Given the description of an element on the screen output the (x, y) to click on. 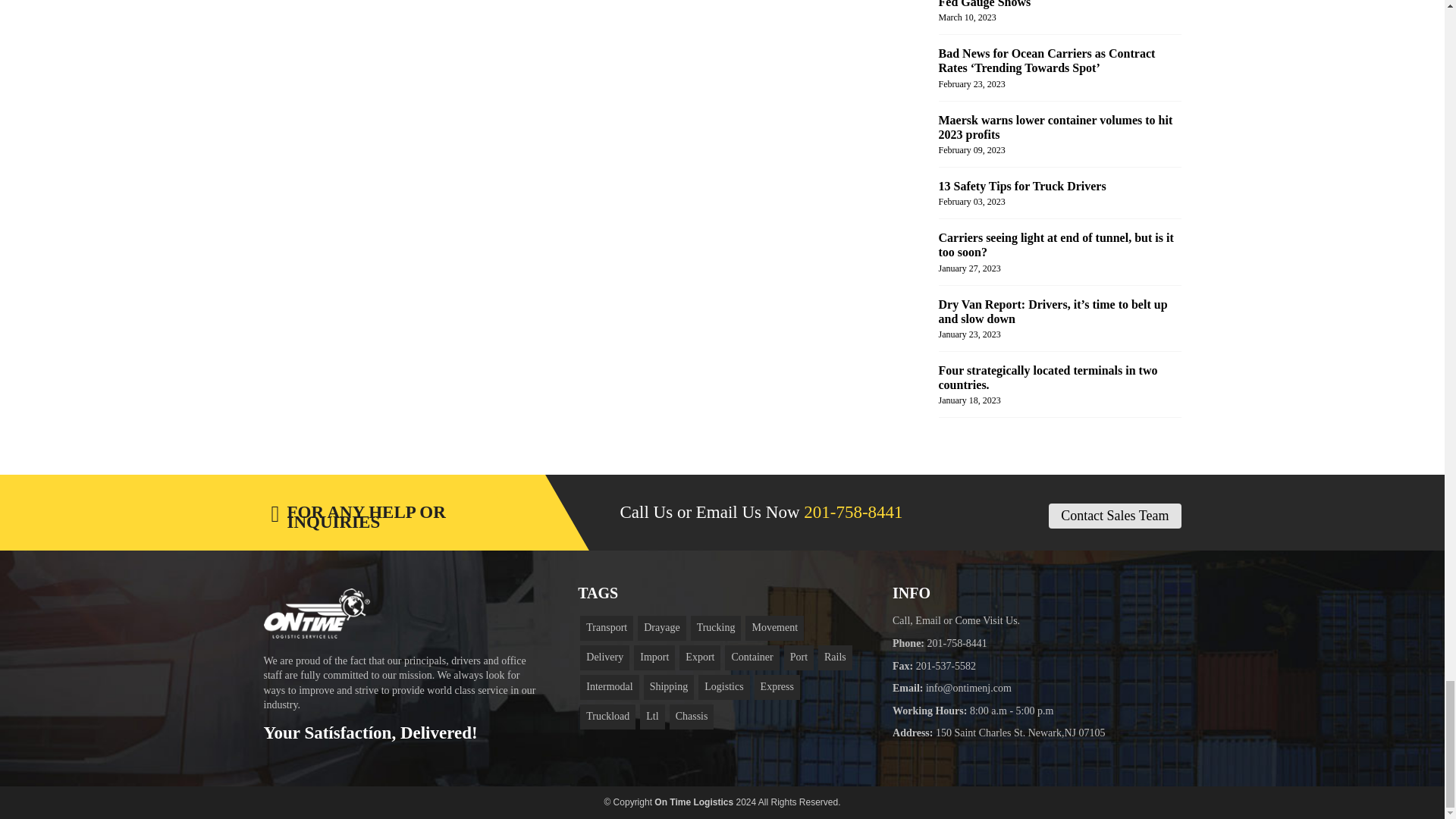
Calls Us Now (852, 511)
Contact Us (968, 687)
Contact Our Sales Team (1115, 515)
Call Us Now (957, 643)
Our Location (1020, 732)
